Given the description of an element on the screen output the (x, y) to click on. 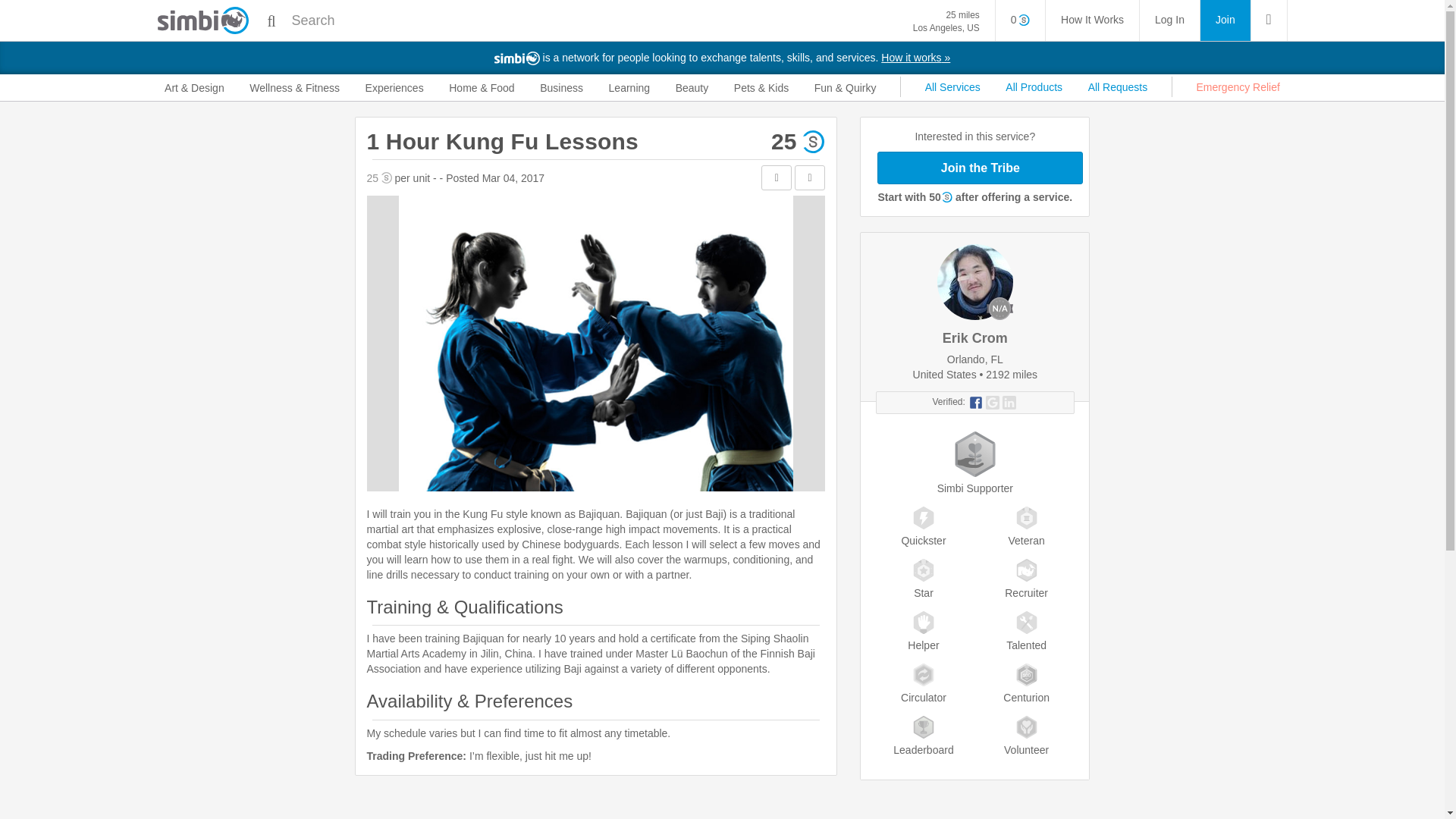
0 (1020, 20)
Join (945, 22)
Log In (1224, 20)
How It Works (1169, 20)
